Given the description of an element on the screen output the (x, y) to click on. 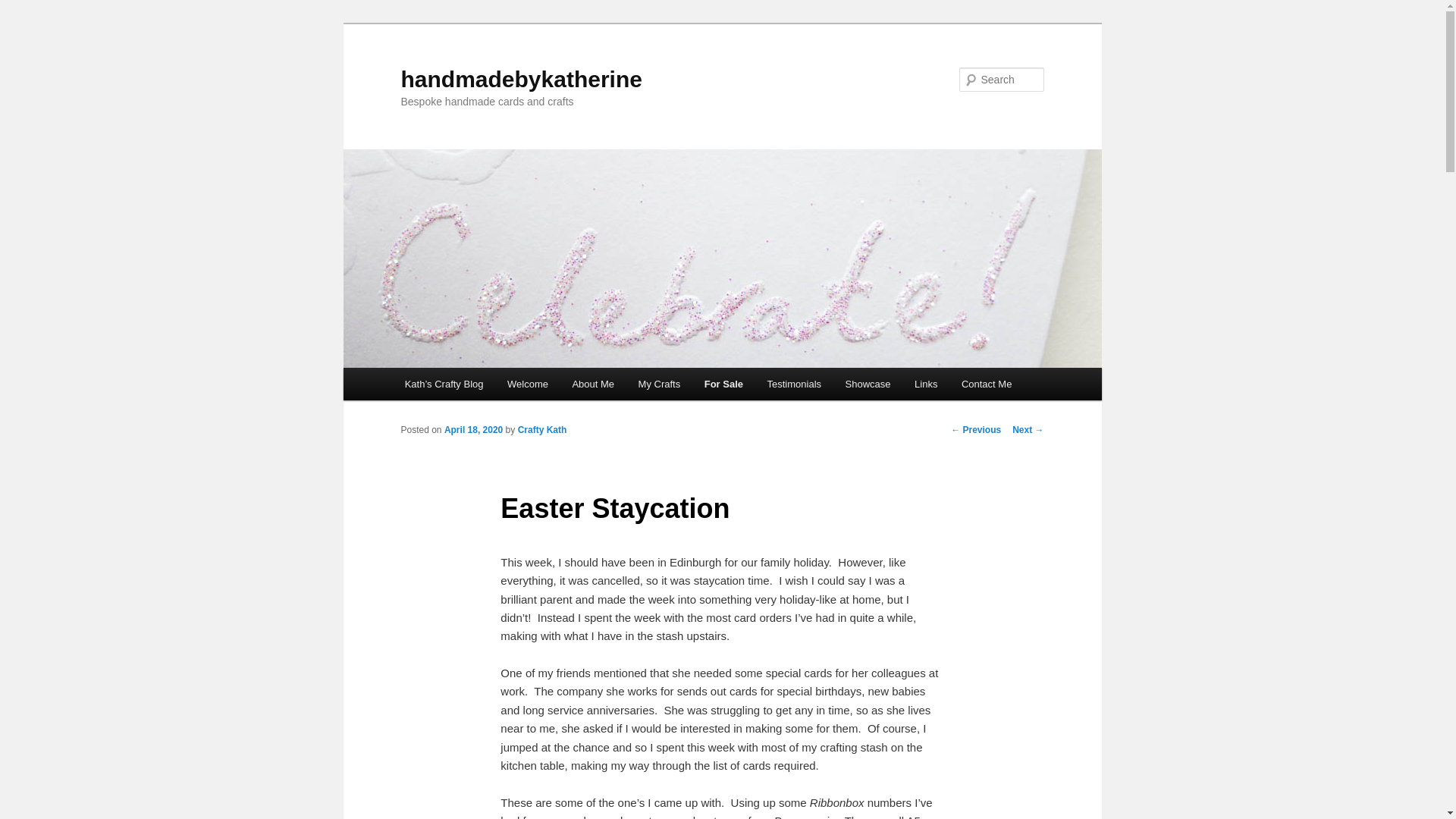
For Sale (724, 383)
Crafty Kath (542, 429)
Welcome (527, 383)
About Me (593, 383)
Testimonials (793, 383)
April 18, 2020 (473, 429)
handmadebykatherine (521, 78)
View all posts by Crafty Kath (542, 429)
3:14 pm (473, 429)
Links (925, 383)
Search (24, 8)
My Crafts (659, 383)
Contact Me (986, 383)
Showcase (867, 383)
